Given the description of an element on the screen output the (x, y) to click on. 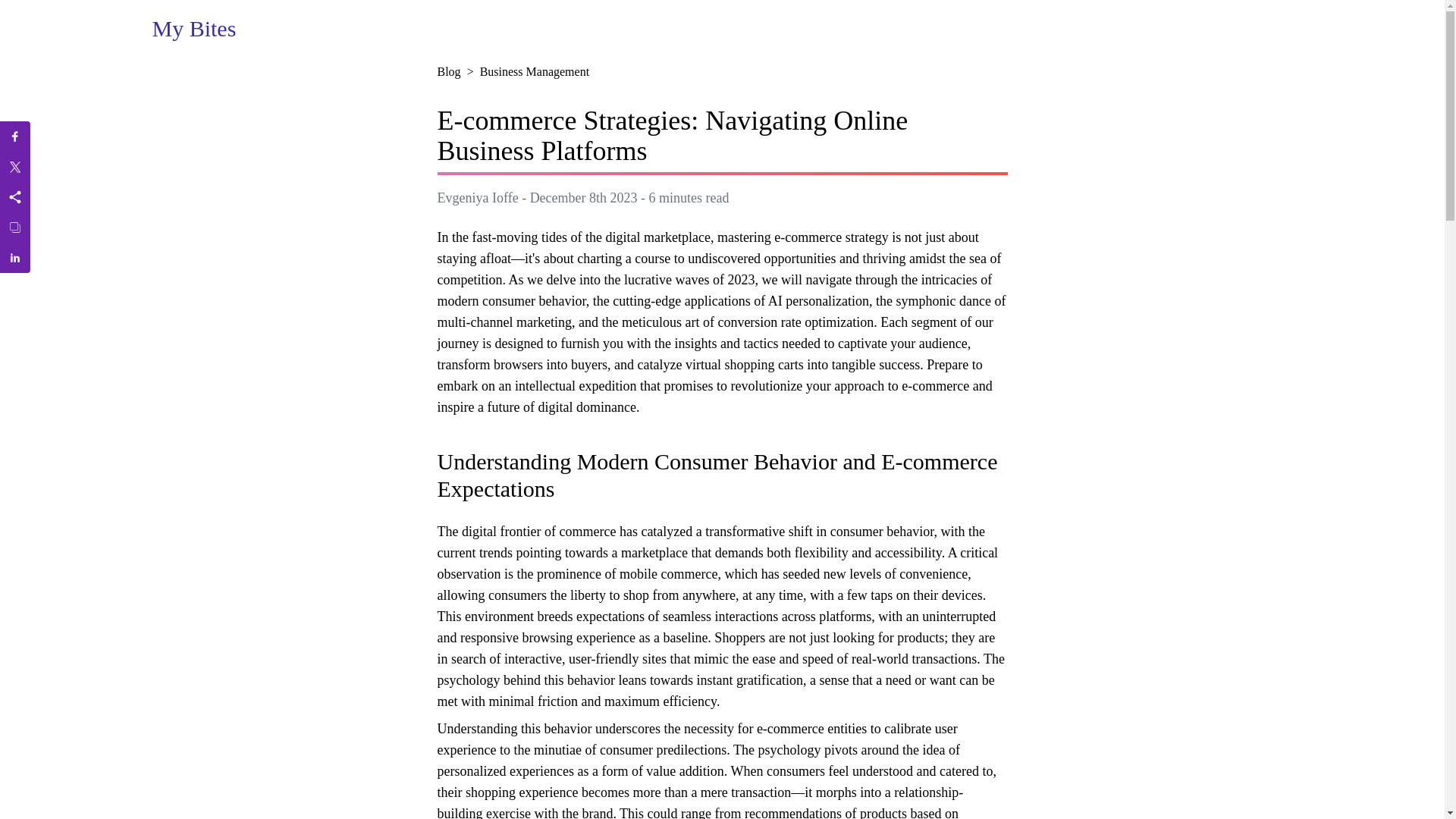
Blog (448, 72)
My Bites (193, 28)
Business Management (534, 72)
